Given the description of an element on the screen output the (x, y) to click on. 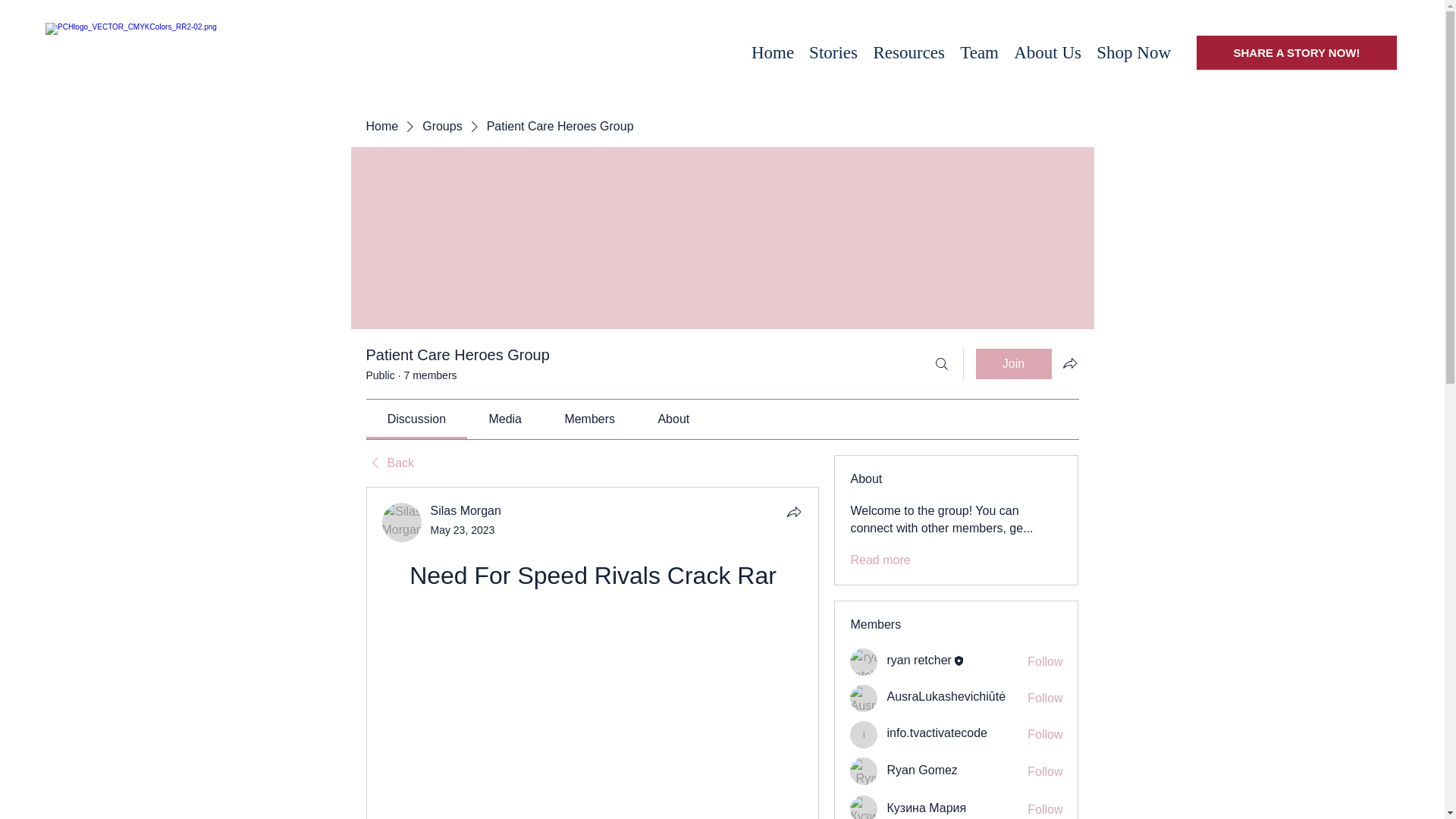
Follow (1044, 734)
Home (381, 126)
info.tvactivatecode (863, 734)
SHARE A STORY NOW! (1296, 52)
Team (979, 51)
ryan retcher (863, 661)
May 23, 2023 (462, 530)
Read more (880, 560)
info.tvactivatecode (936, 732)
Follow (1044, 661)
Follow (1044, 809)
Shop Now (1133, 51)
Stories (833, 51)
ryan retcher (918, 659)
About Us (1047, 51)
